Given the description of an element on the screen output the (x, y) to click on. 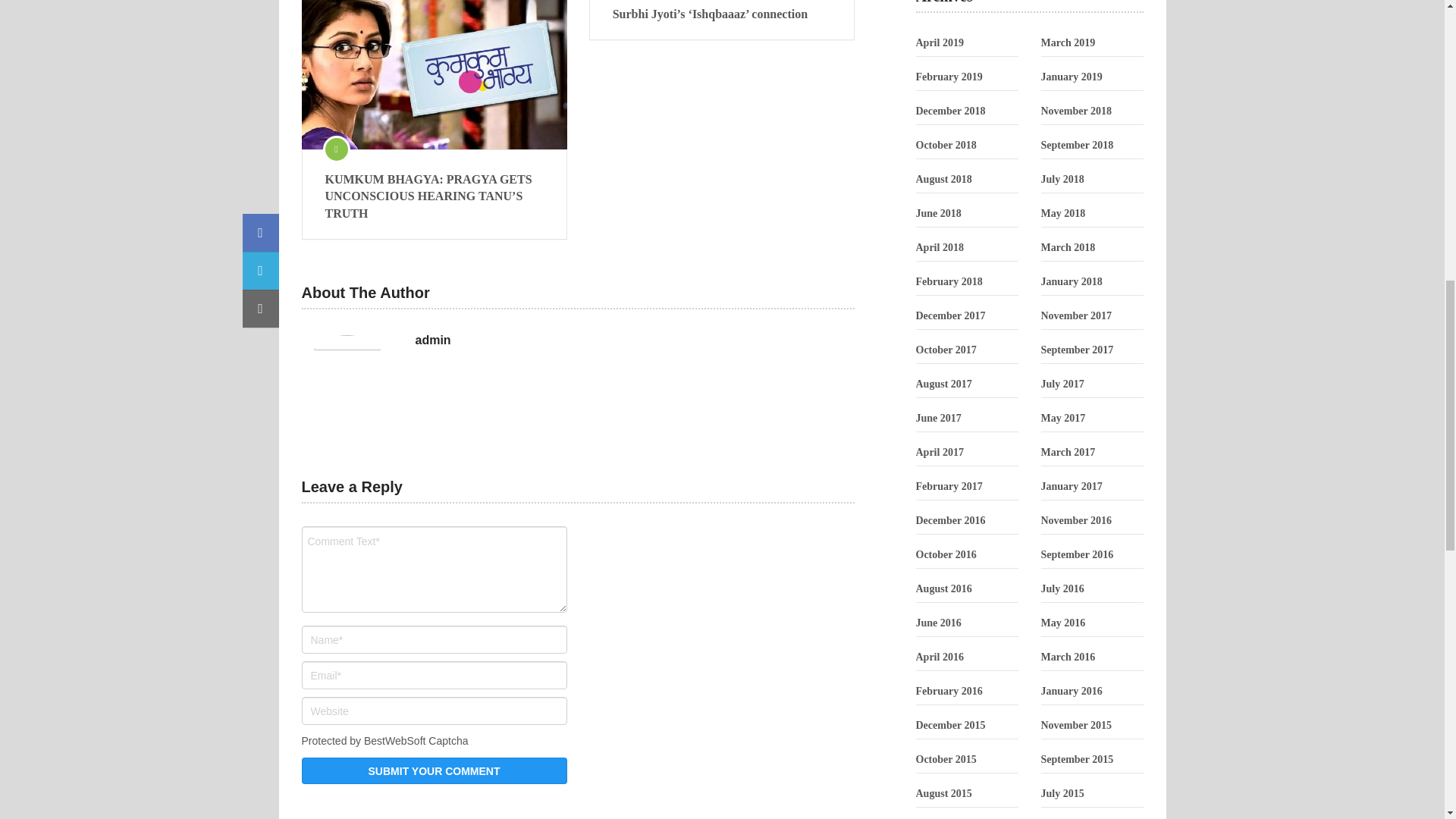
Submit Your Comment (434, 770)
Submit Your Comment (434, 770)
admin (432, 340)
